Given the description of an element on the screen output the (x, y) to click on. 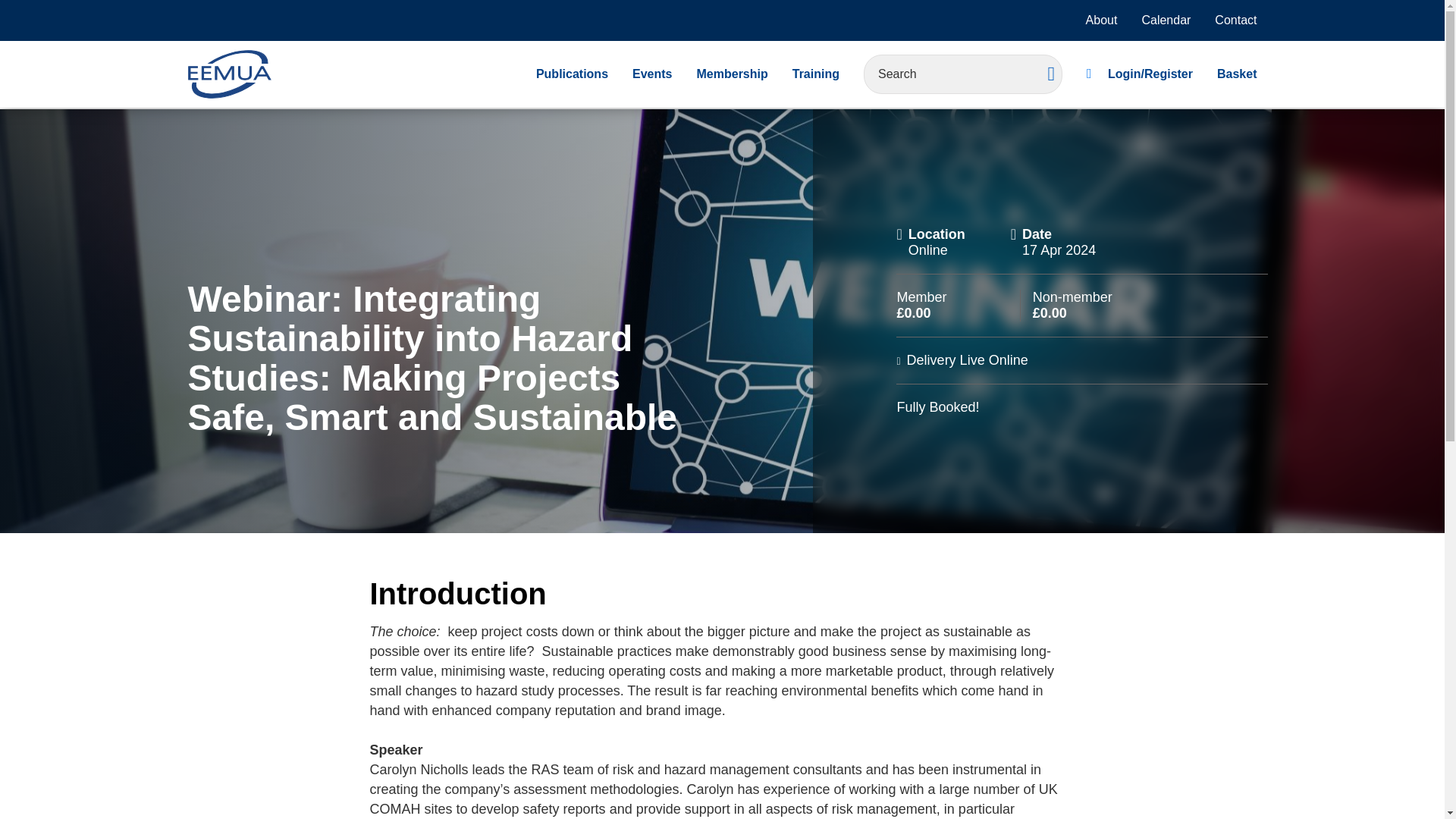
About (1102, 20)
Contact (1235, 20)
Calendar (1166, 20)
Publications (571, 73)
Membership (731, 73)
